Given the description of an element on the screen output the (x, y) to click on. 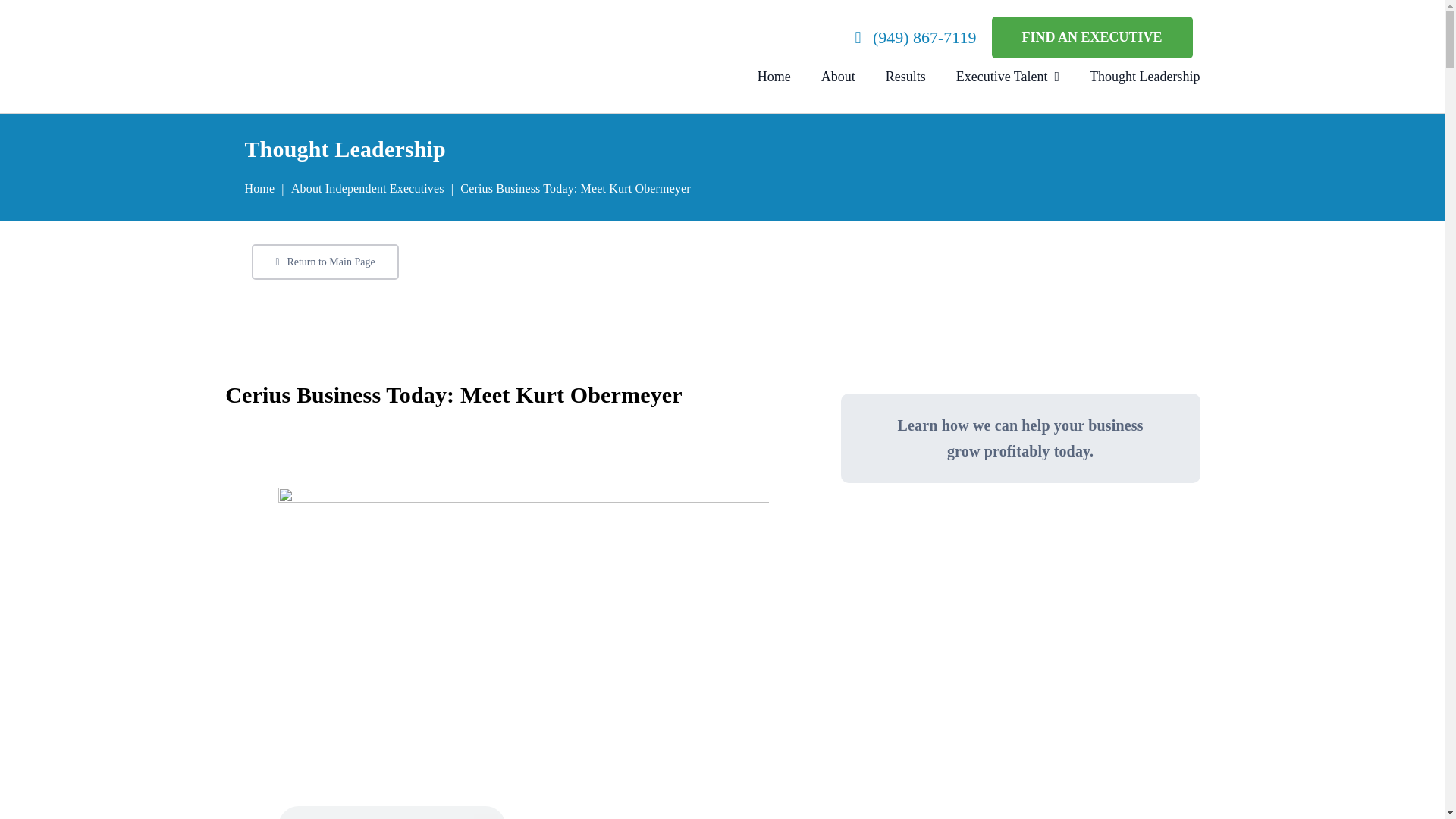
Executive Talent (1007, 77)
About Independent Executives (367, 187)
Return to Main Page (324, 262)
Home (259, 187)
Results (905, 77)
Thought Leadership (1144, 77)
FIND AN EXECUTIVE (1091, 37)
About (838, 77)
